Given the description of an element on the screen output the (x, y) to click on. 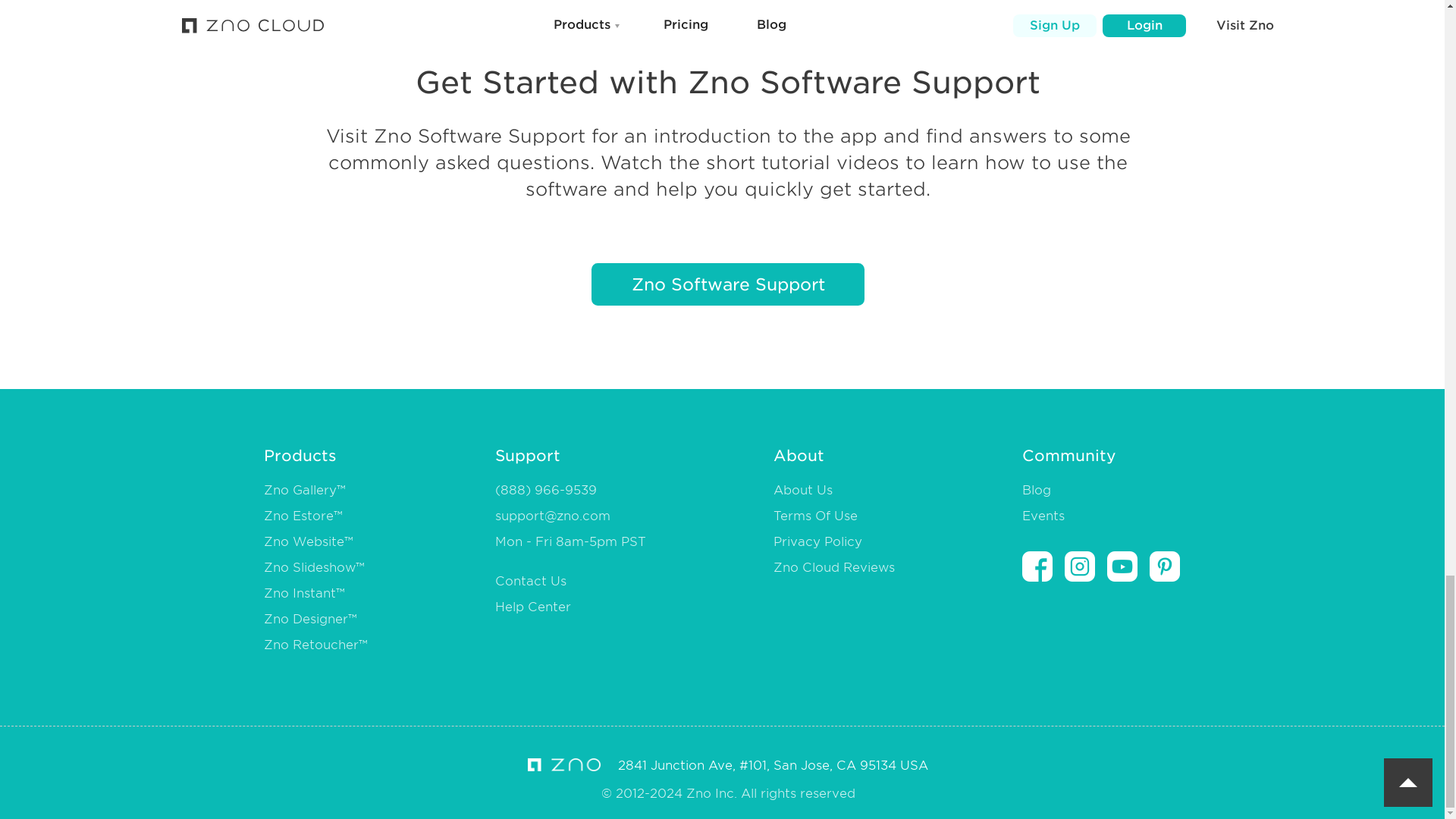
About Us (802, 490)
Privacy Policy (817, 541)
Terms Of Use (815, 515)
Zno Cloud Reviews (834, 567)
Contact Us (530, 581)
Help Center (532, 606)
Blog (1036, 490)
Zno Software Support (727, 283)
Events (1043, 515)
